Given the description of an element on the screen output the (x, y) to click on. 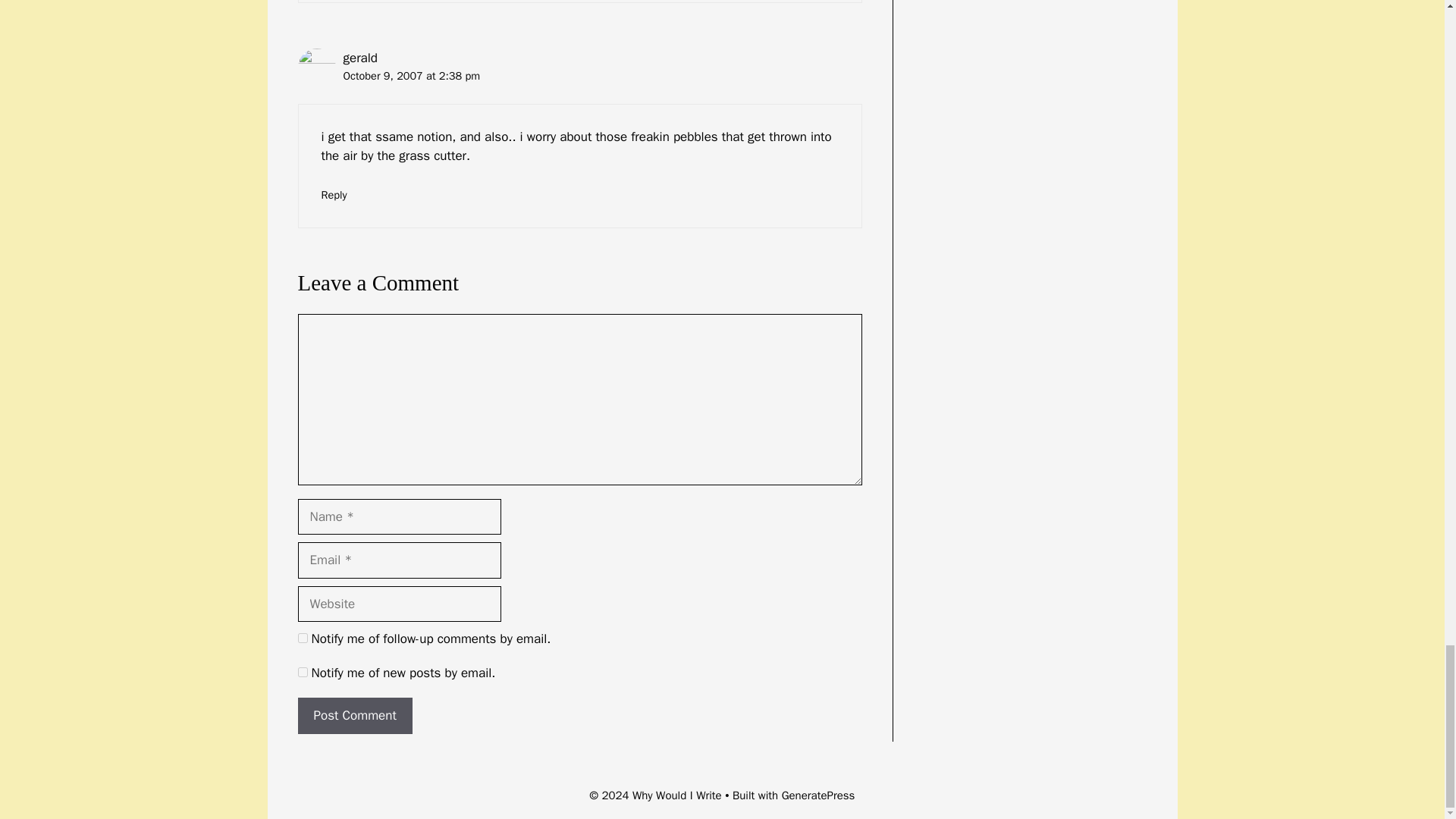
subscribe (302, 637)
subscribe (302, 672)
Post Comment (354, 715)
